Given the description of an element on the screen output the (x, y) to click on. 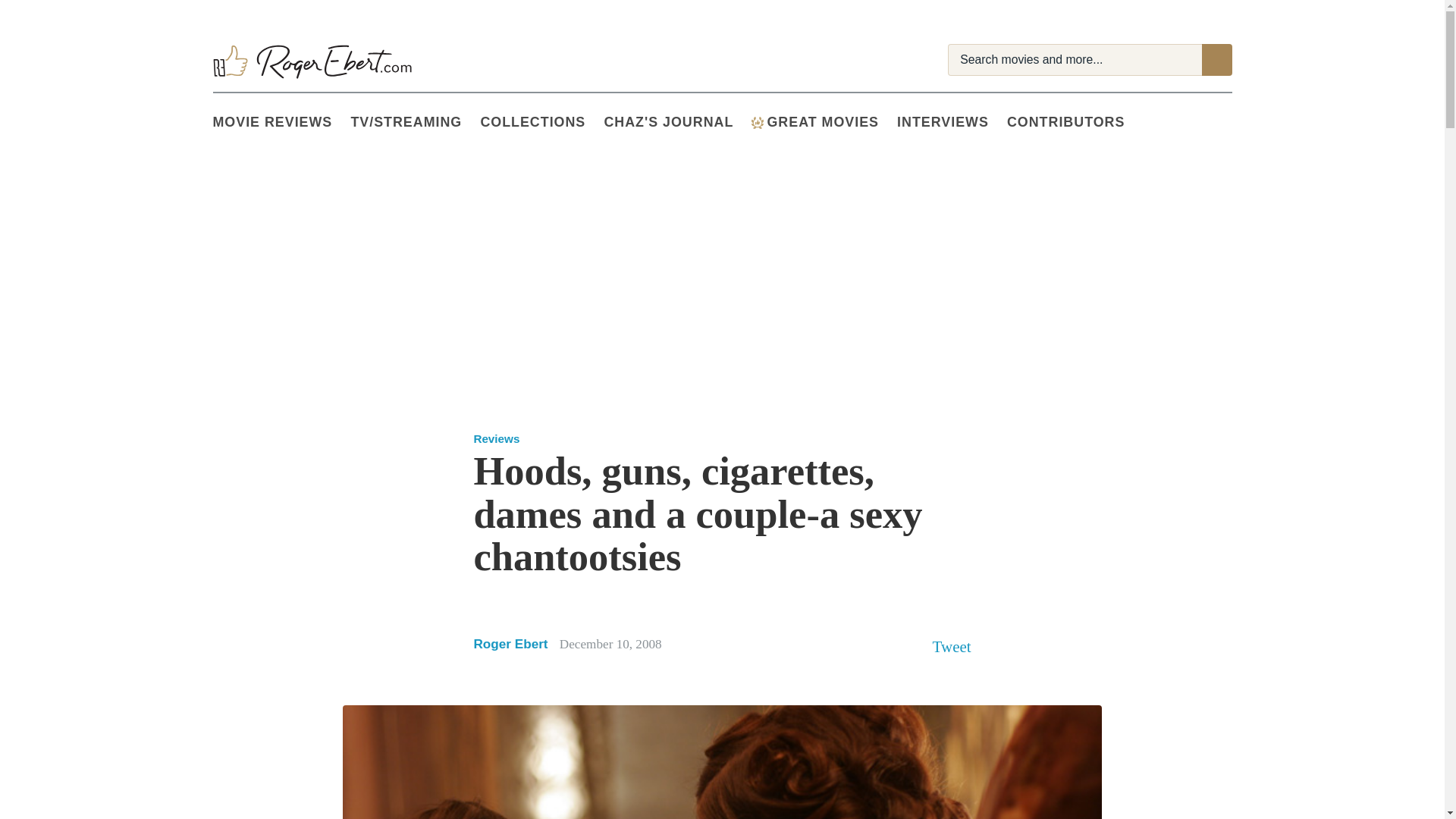
star-full (509, 598)
Reviews (496, 438)
COLLECTIONS (542, 122)
Contributors (1074, 122)
Roger Ebert (510, 643)
Great Movies (756, 122)
Interviews (951, 122)
CHAZ'S JOURNAL (677, 122)
Great Movies (823, 122)
Search (1216, 60)
GREAT MOVIES (823, 122)
Chaz's Journal (677, 122)
Collections (542, 122)
MOVIE REVIEWS (281, 122)
INTERVIEWS (951, 122)
